Given the description of an element on the screen output the (x, y) to click on. 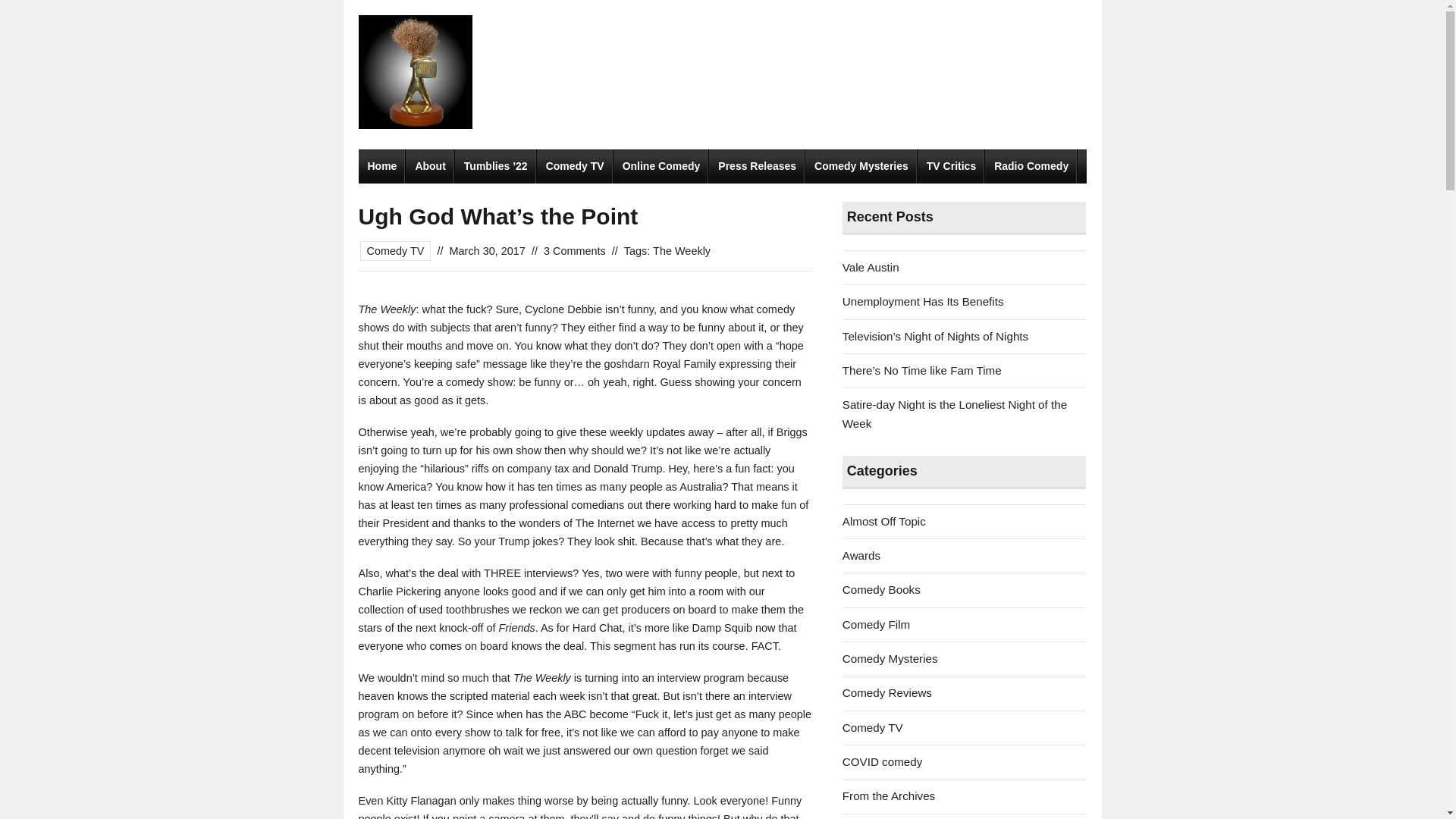
Comedy Film (876, 624)
Satire-day Night is the Loneliest Night of the Week (955, 413)
Comedy TV (394, 250)
COVID comedy (883, 761)
Awards (861, 554)
From the Archives (888, 795)
About (430, 166)
Comedy TV (872, 727)
Comedy Mysteries (890, 658)
Comedy Reviews (887, 692)
Vale Austin (871, 267)
Radio Comedy (1031, 166)
Comedy Books (881, 589)
TV Critics (951, 166)
Unemployment Has Its Benefits (923, 300)
